Given the description of an element on the screen output the (x, y) to click on. 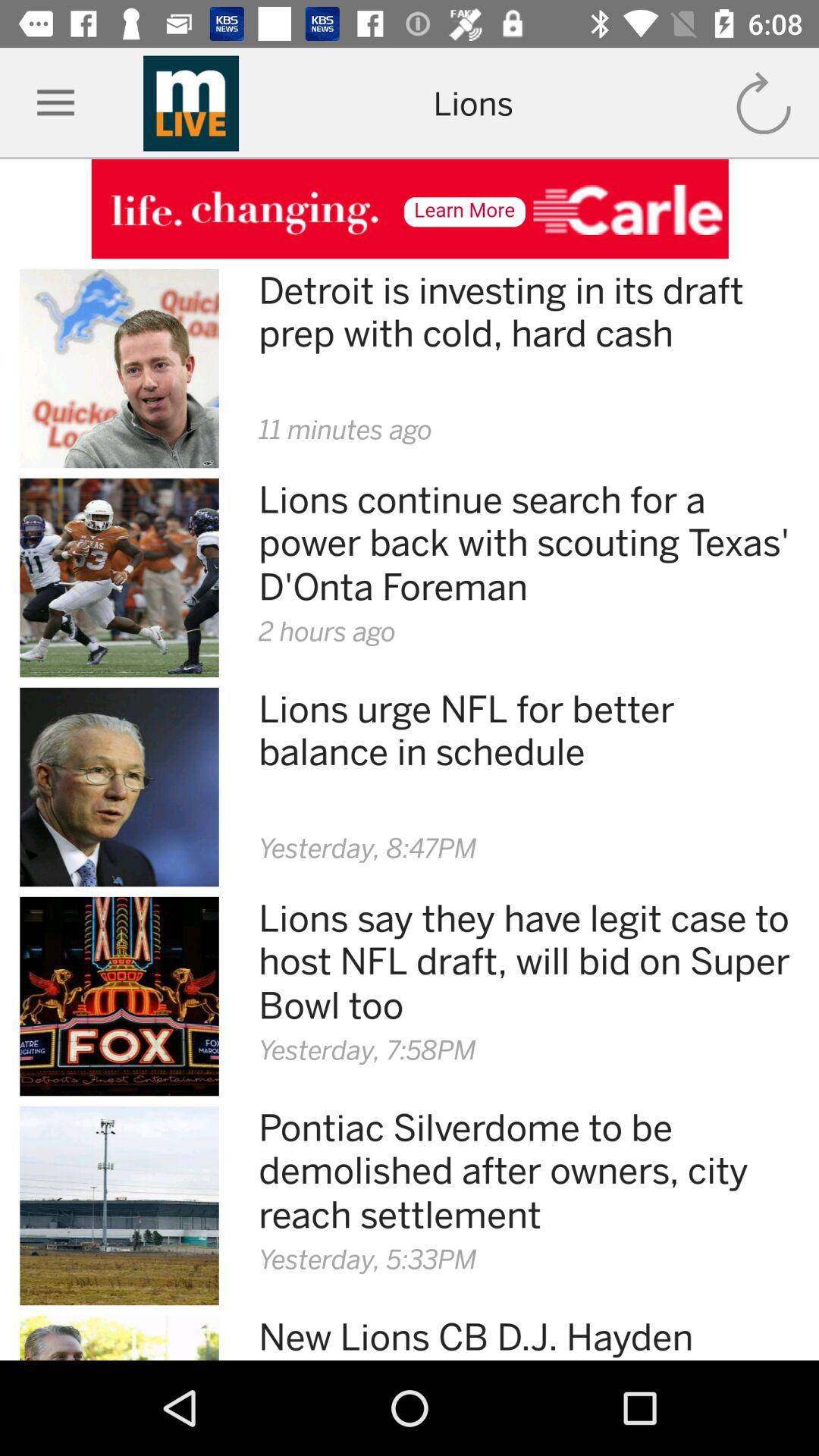
advertisement (409, 208)
